Given the description of an element on the screen output the (x, y) to click on. 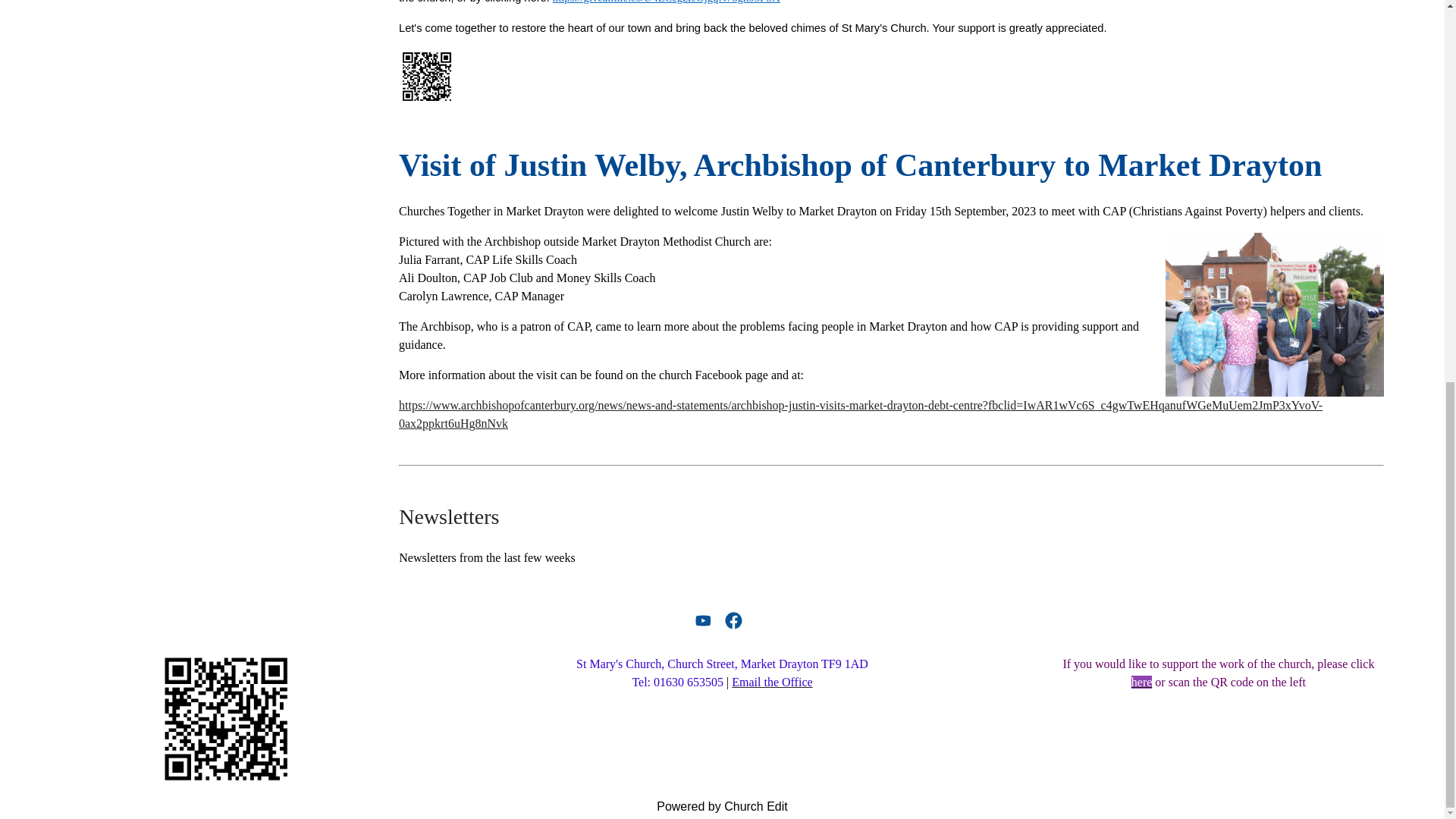
To support St Mary's scan here (226, 718)
